Given the description of an element on the screen output the (x, y) to click on. 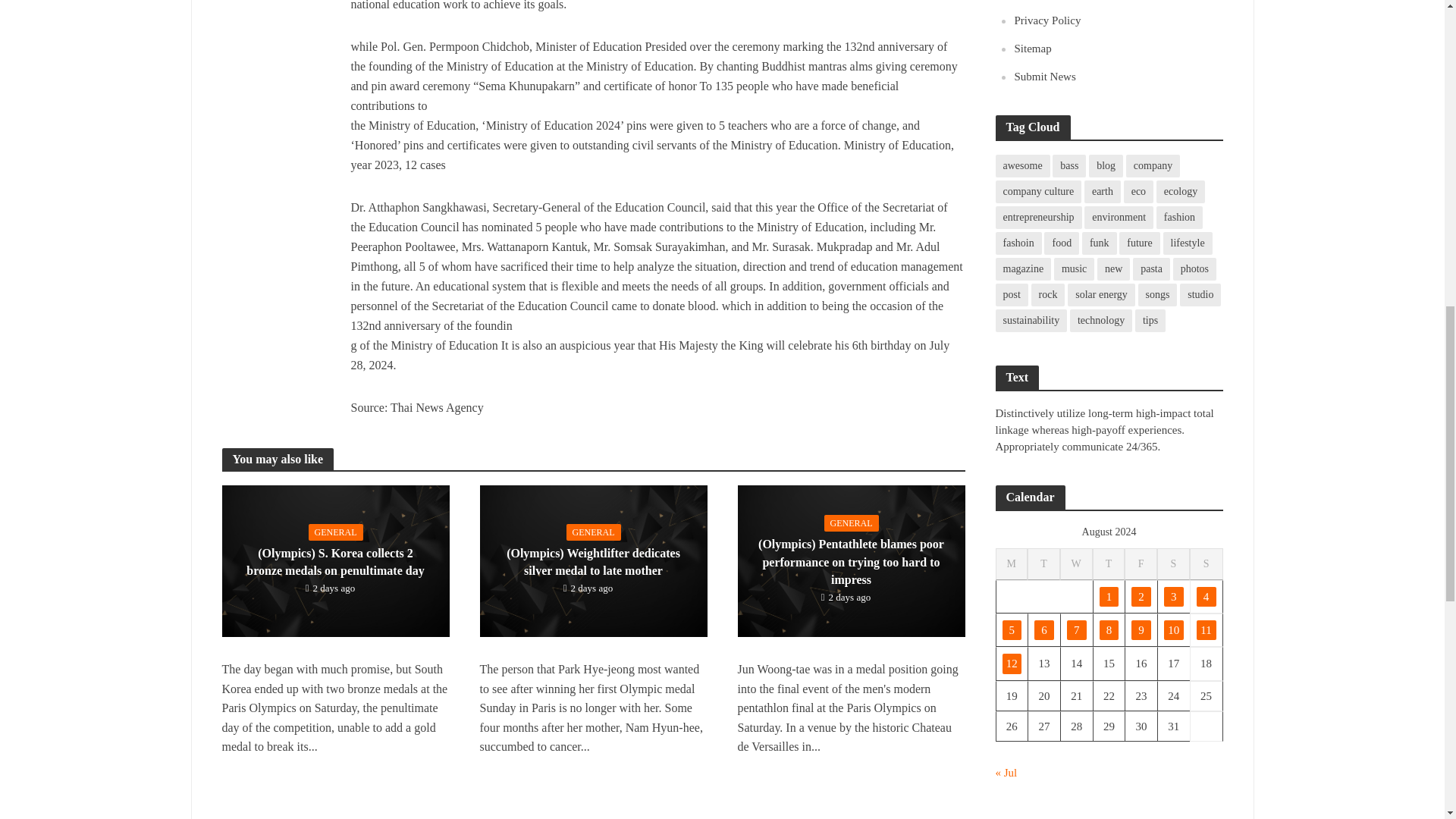
Friday (1140, 563)
Thursday (1109, 563)
Tuesday (1043, 563)
Saturday (1173, 563)
Sunday (1206, 563)
Monday (1010, 563)
Wednesday (1076, 563)
